Given the description of an element on the screen output the (x, y) to click on. 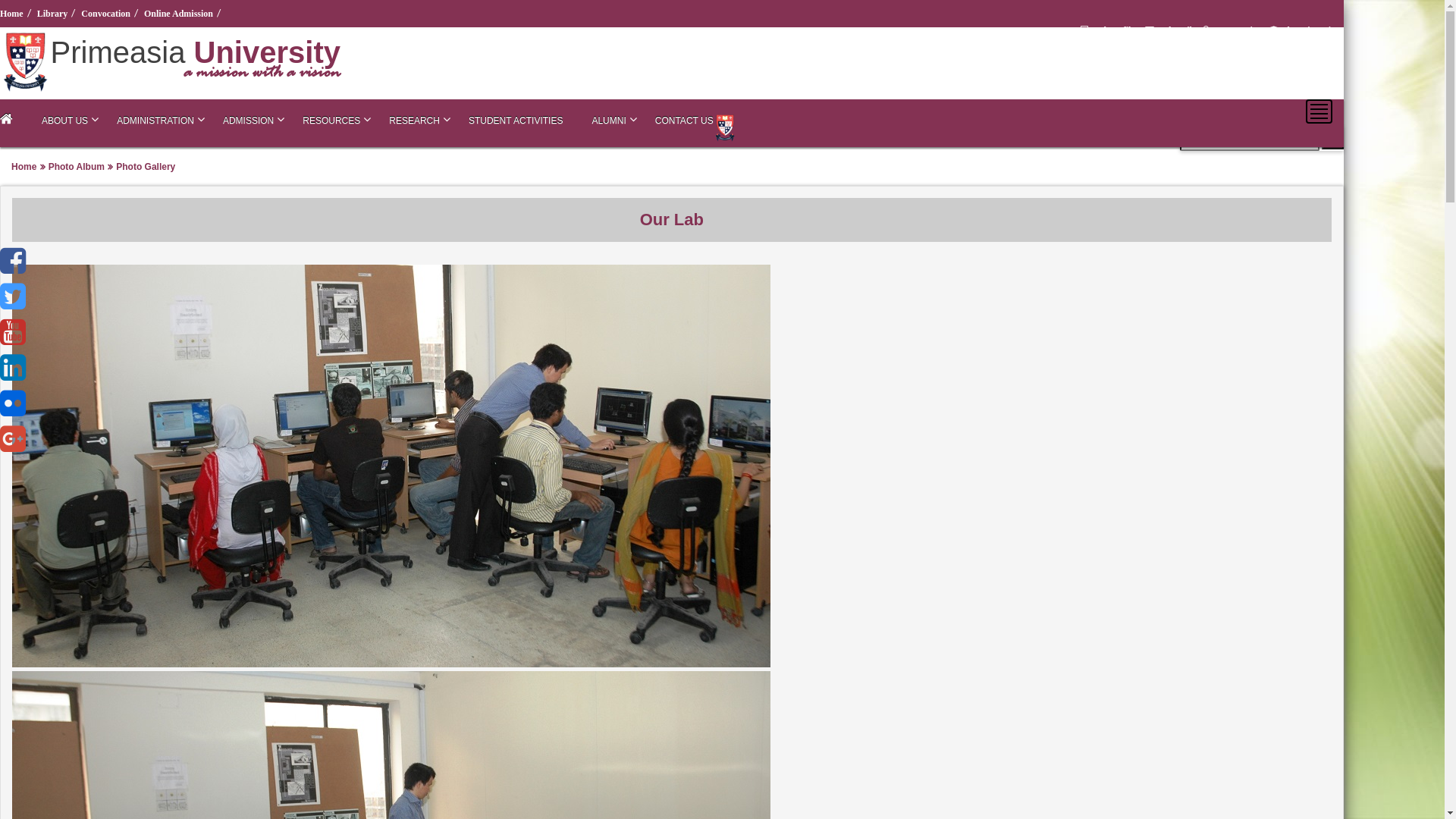
ALUMNI Element type: text (608, 120)
Convocation Element type: text (107, 13)
UMS-Login Element type: text (1231, 30)
Alumni-Login Element type: text (1303, 30)
STUDENT ACTIVITIES Element type: text (515, 120)
DSC_3356.JPG Element type: hover (391, 662)
Home Element type: text (13, 13)
Photo Gallery Element type: text (145, 165)
Online Admission Element type: text (180, 13)
Home Element type: text (23, 165)
WebMail Element type: text (1170, 30)
ADMINISTRATION Element type: text (155, 120)
WebProfile Element type: text (1109, 30)
Photo Album Element type: text (76, 165)
RESOURCES Element type: text (331, 120)
Library Element type: text (54, 13)
CONTACT US Element type: text (684, 120)
ADMISSION Element type: text (247, 120)
RESEARCH Element type: text (414, 120)
ABOUT US Element type: text (64, 120)
